Given the description of an element on the screen output the (x, y) to click on. 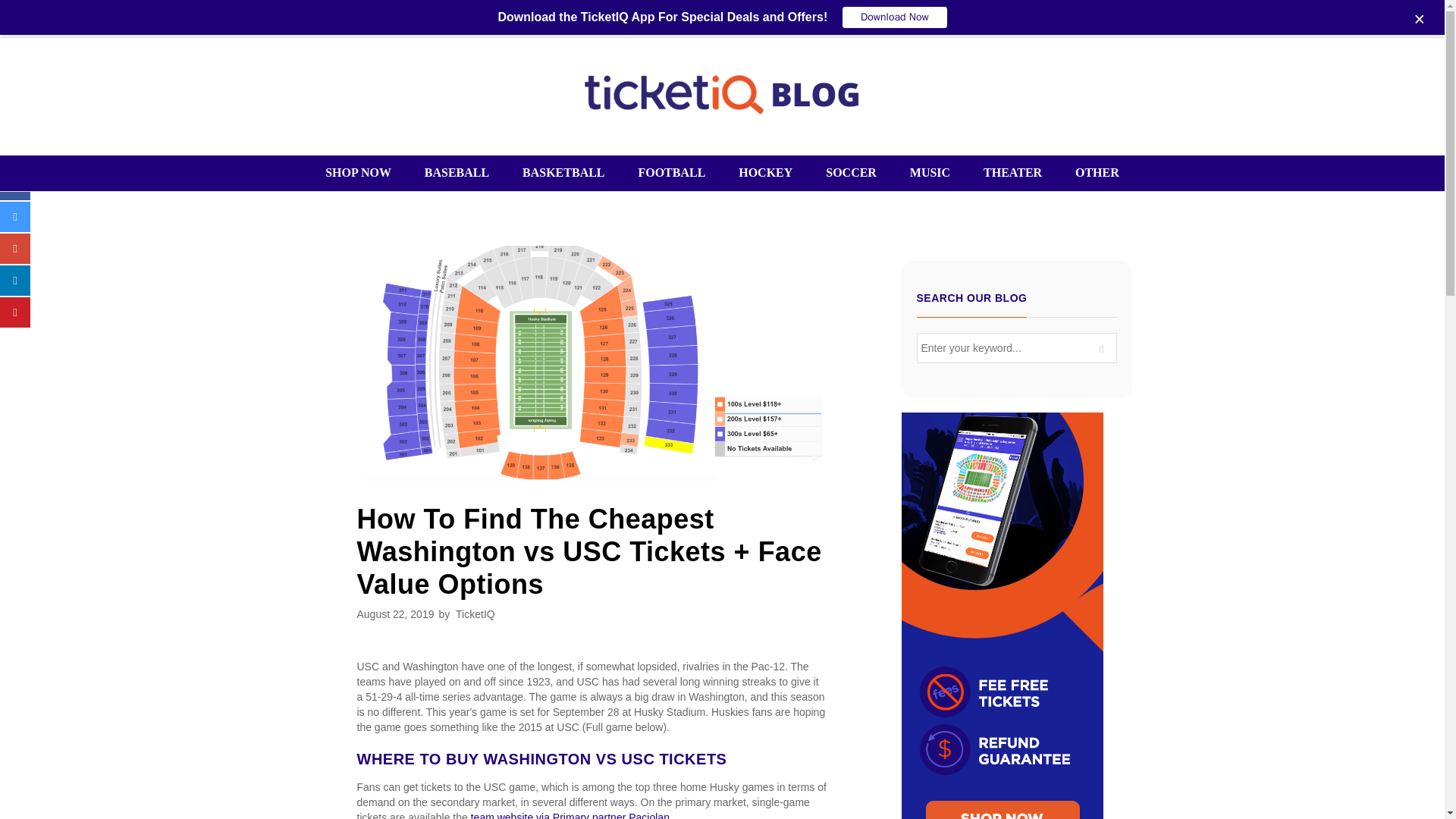
Share to Twitter (15, 227)
MUSIC (930, 172)
SHOP NOW (365, 172)
BASEBALL (456, 172)
Share to Google Plus (15, 259)
TicketIQ (475, 613)
FOOTBALL (671, 172)
SOCCER (850, 172)
OTHER (1089, 172)
BLOG (721, 94)
Share to Pinterest (15, 323)
THEATER (1012, 172)
Share to LinkedIn (15, 291)
Share to Facebook (15, 195)
BASKETBALL (563, 172)
